Given the description of an element on the screen output the (x, y) to click on. 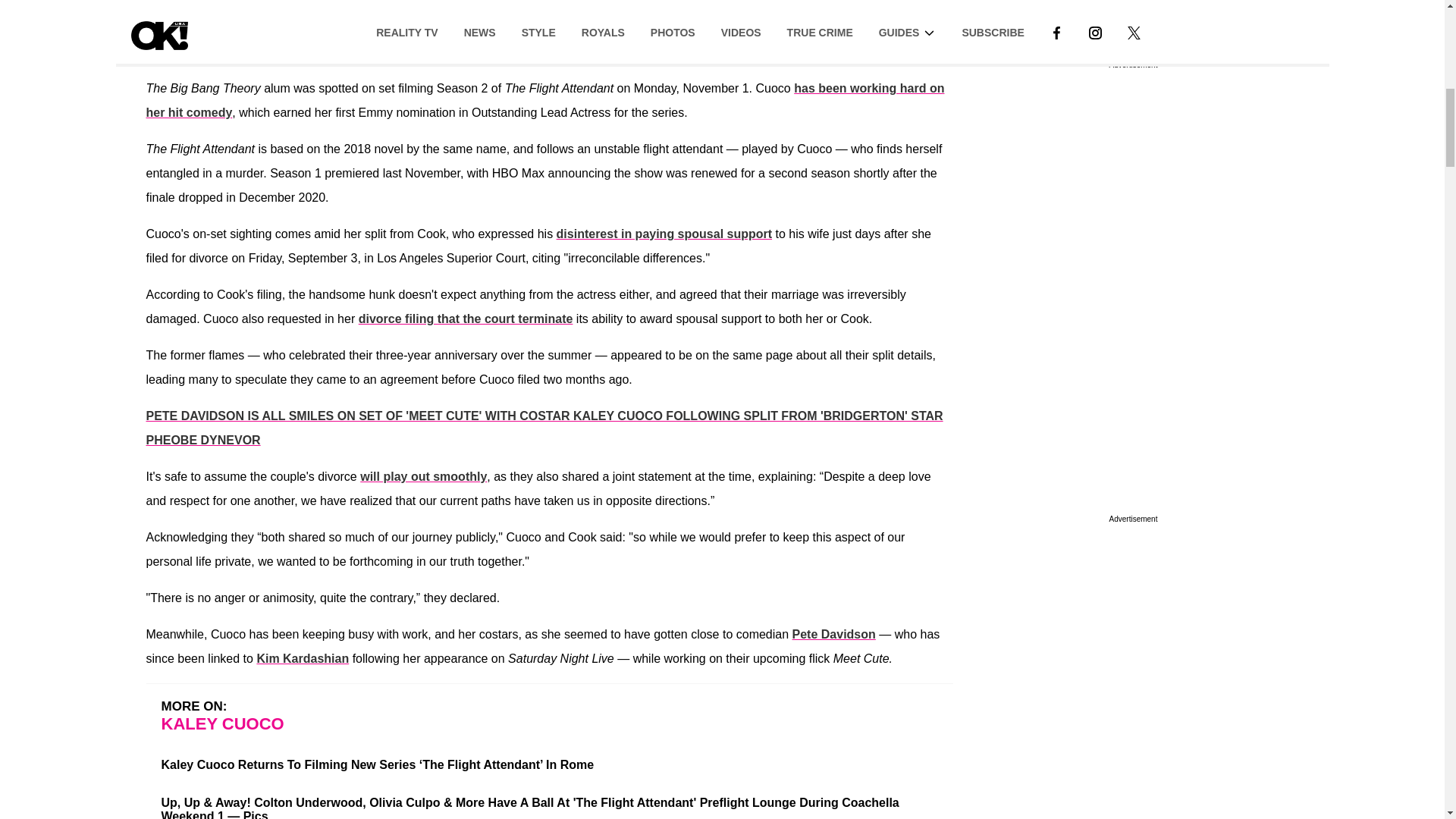
Karl Cook (427, 25)
